Given the description of an element on the screen output the (x, y) to click on. 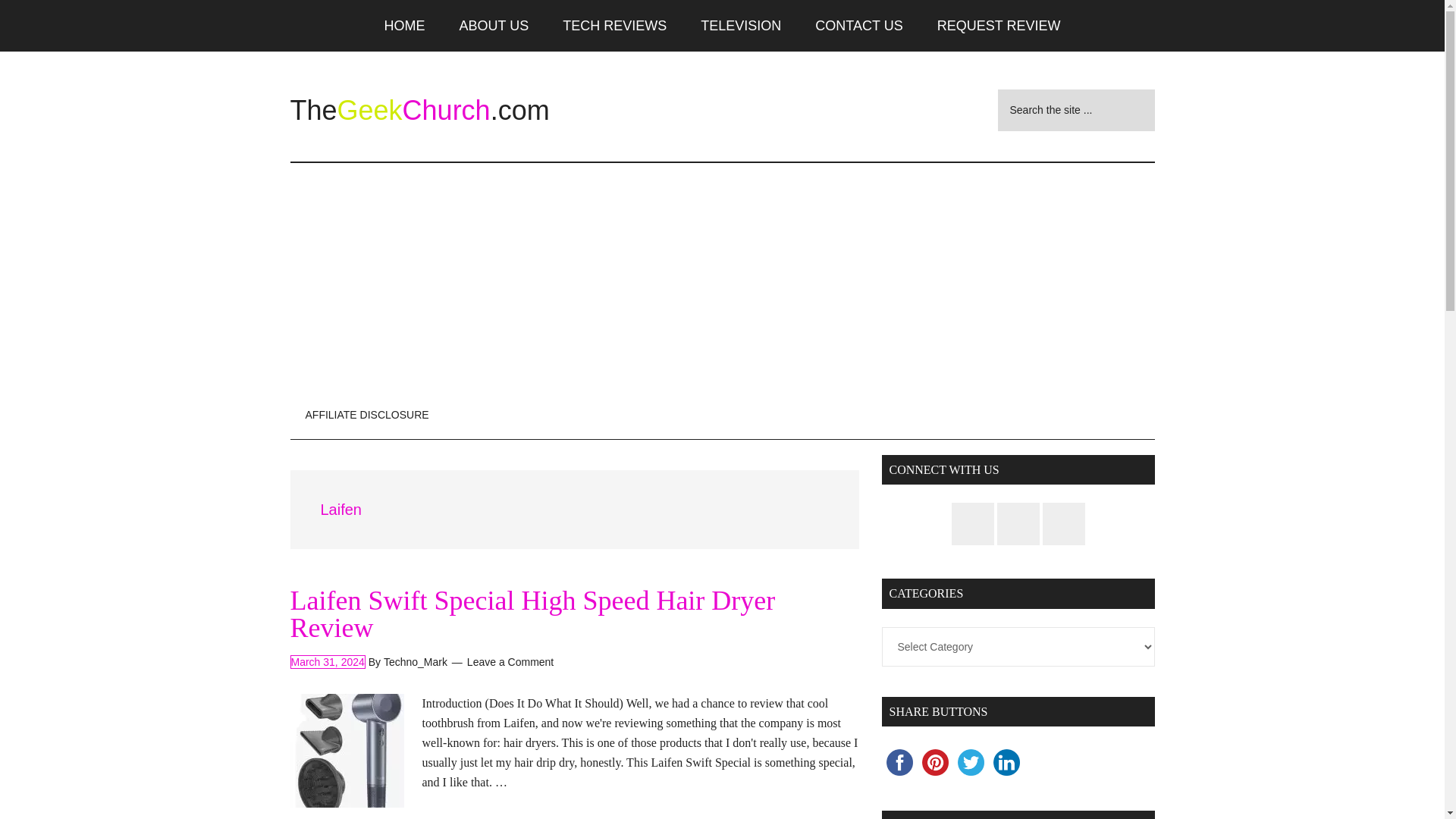
HOME (405, 25)
TheGeekChurch.com (418, 110)
pinterest (935, 762)
Leave a Comment (510, 662)
linkedin (1006, 762)
Laifen Swift Special High Speed Hair Dryer Review (531, 613)
twitter (970, 762)
TELEVISION (740, 25)
CONTACT US (858, 25)
ABOUT US (494, 25)
